Given the description of an element on the screen output the (x, y) to click on. 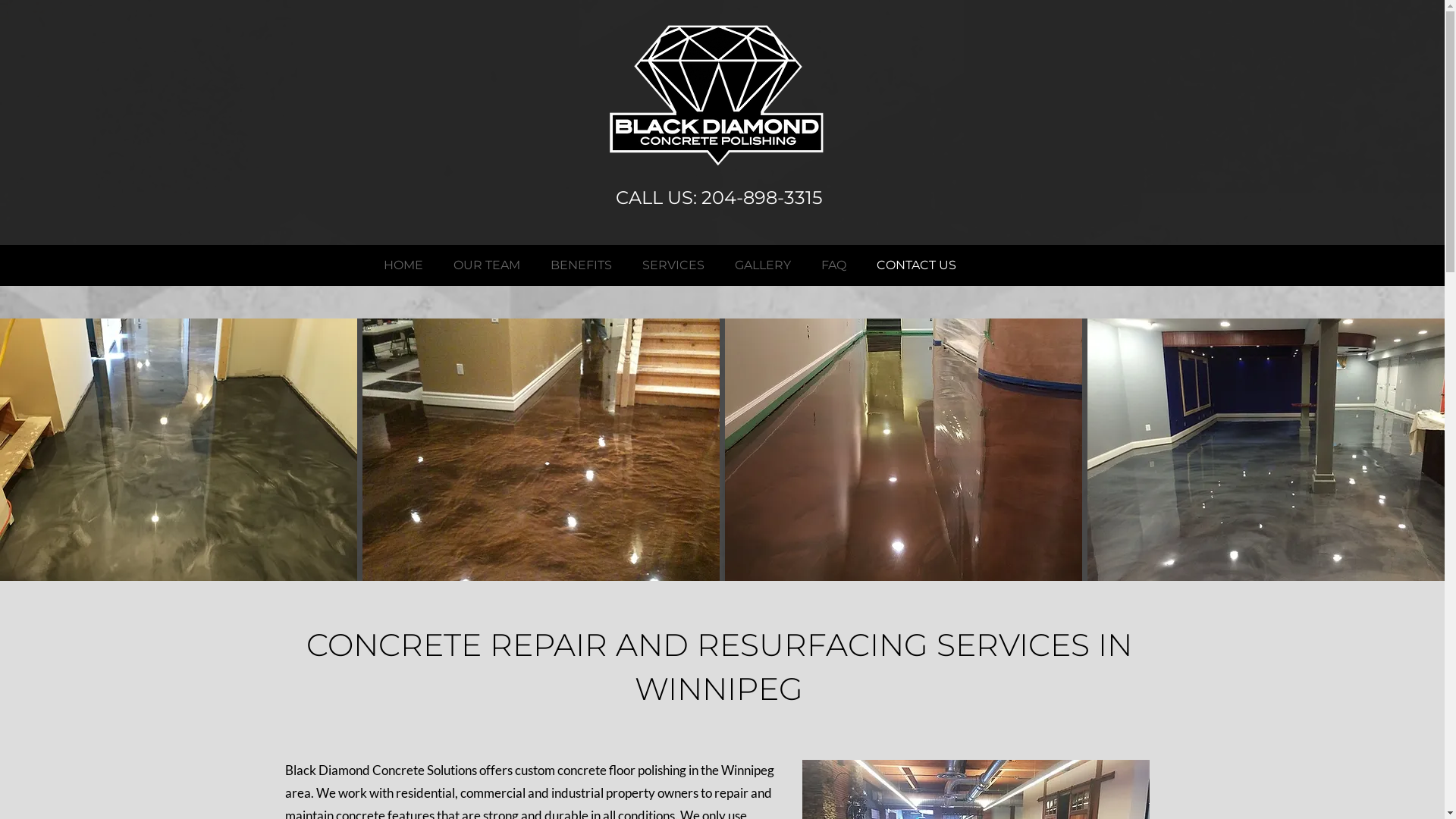
GALLERY Element type: text (761, 265)
CONTACT US Element type: text (916, 265)
HOME Element type: text (403, 265)
204-898-3315 Element type: text (761, 197)
BENEFITS Element type: text (581, 265)
FAQ Element type: text (832, 265)
OUR TEAM Element type: text (486, 265)
SERVICES Element type: text (672, 265)
